Given the description of an element on the screen output the (x, y) to click on. 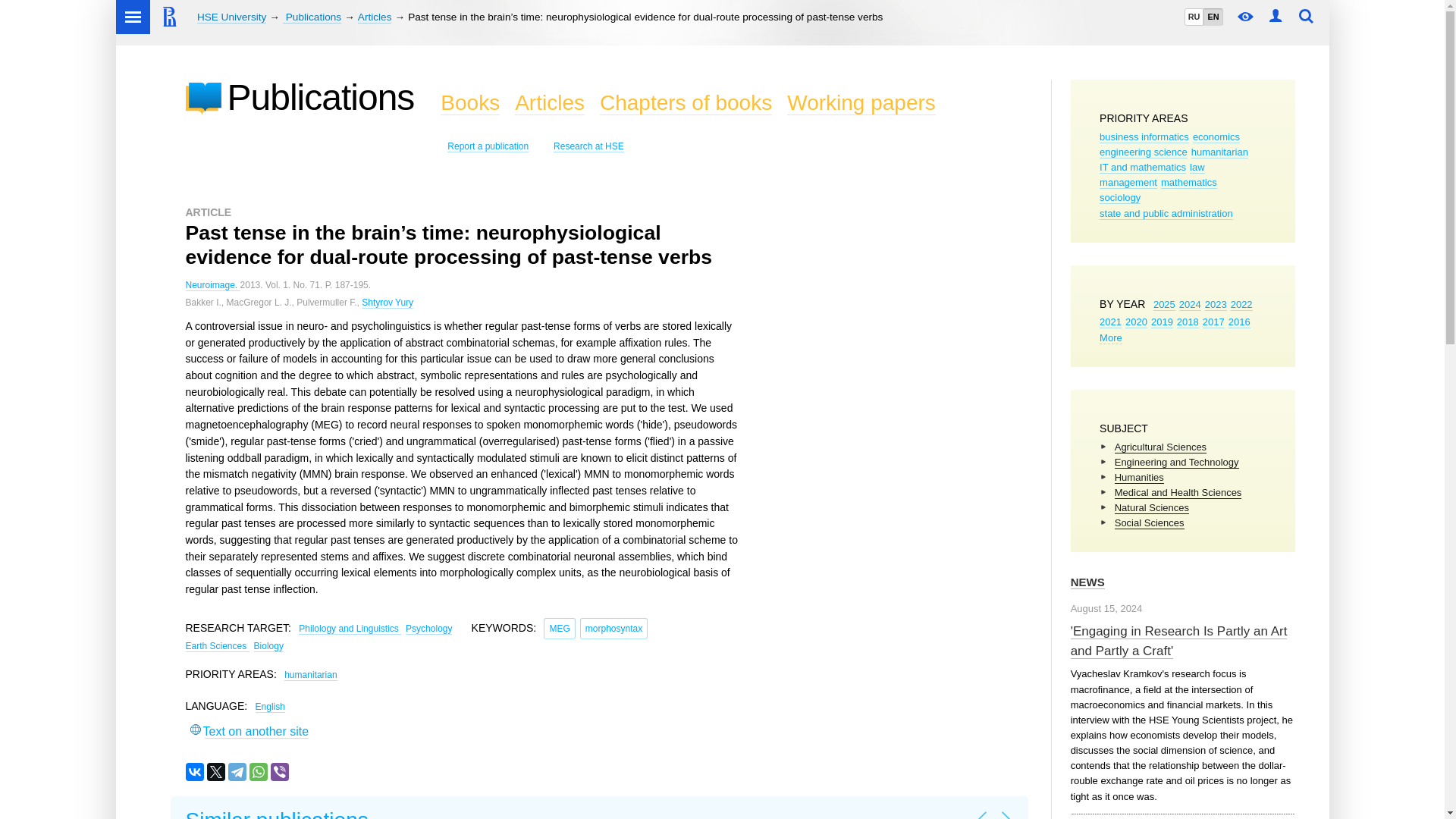
RU (1194, 17)
economics (1216, 137)
2025 (1163, 304)
2022 (1241, 304)
Articles (374, 17)
2019 (1162, 322)
EN (1212, 17)
IT and mathematics (1142, 167)
Publications (311, 17)
business informatics (1144, 137)
